Given the description of an element on the screen output the (x, y) to click on. 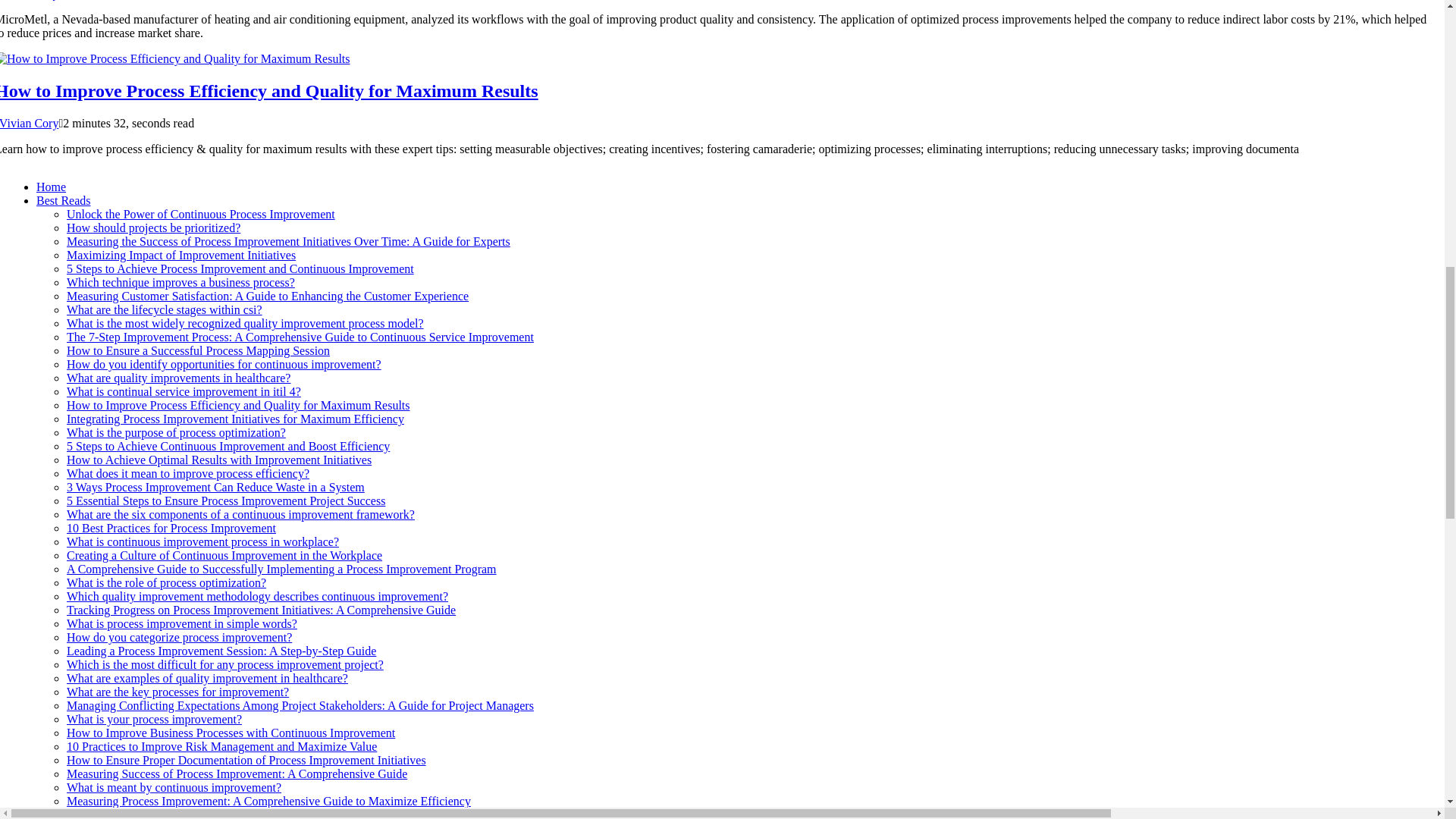
Home (50, 186)
What are quality improvements in healthcare? (177, 377)
Posts by Vivian Cory (29, 123)
What are the lifecycle stages within csi? (164, 309)
What is the purpose of process optimization? (175, 431)
What is continual service improvement in itil 4? (183, 391)
Which technique improves a business process? (180, 282)
